Given the description of an element on the screen output the (x, y) to click on. 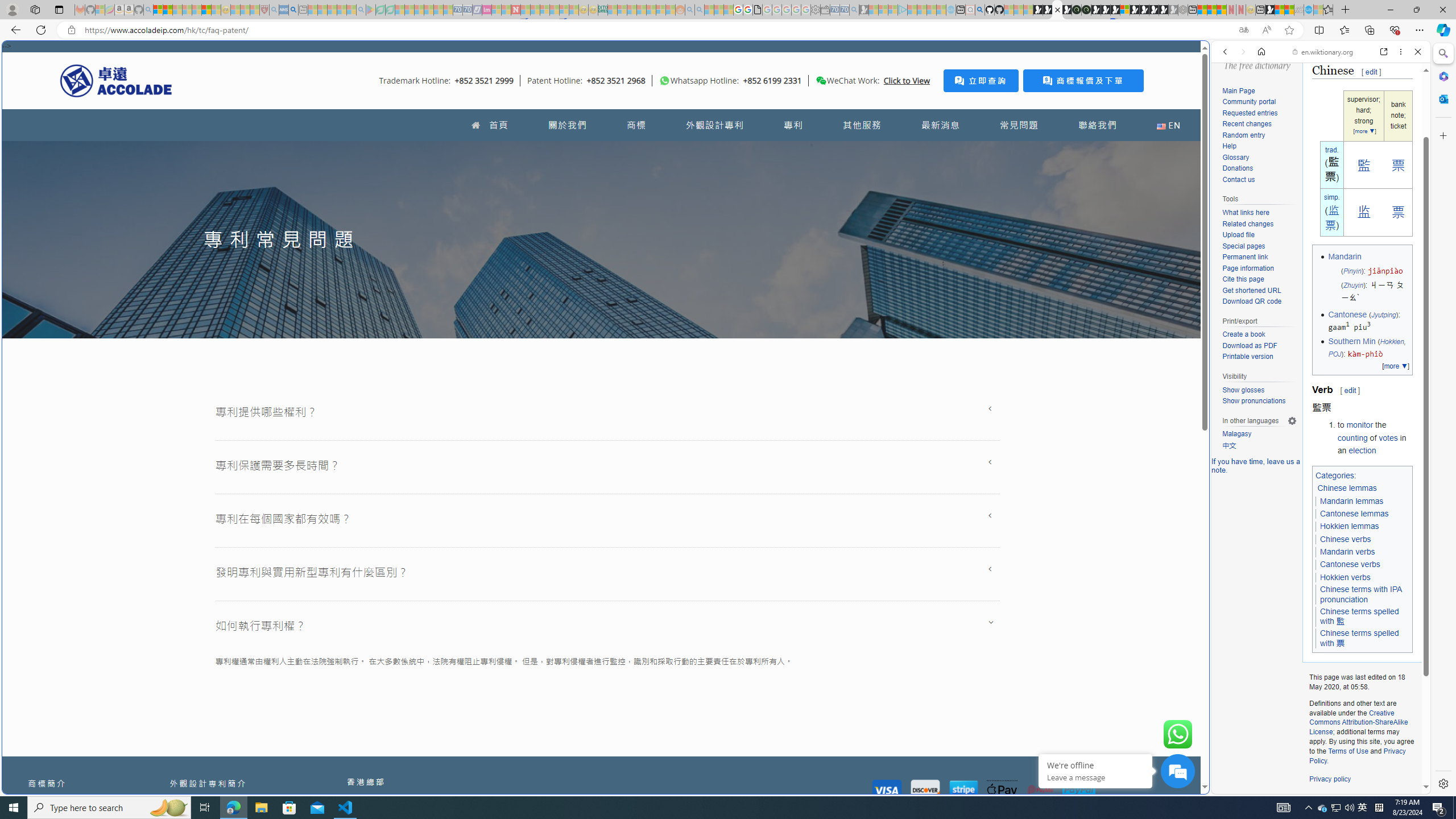
Show glosses (1259, 390)
Random entry (1259, 135)
Privacy Policy. (1357, 755)
Zhuyin (1352, 285)
Microsoft Start Gaming - Sleeping (863, 9)
Chinese verbs (1345, 538)
